Given the description of an element on the screen output the (x, y) to click on. 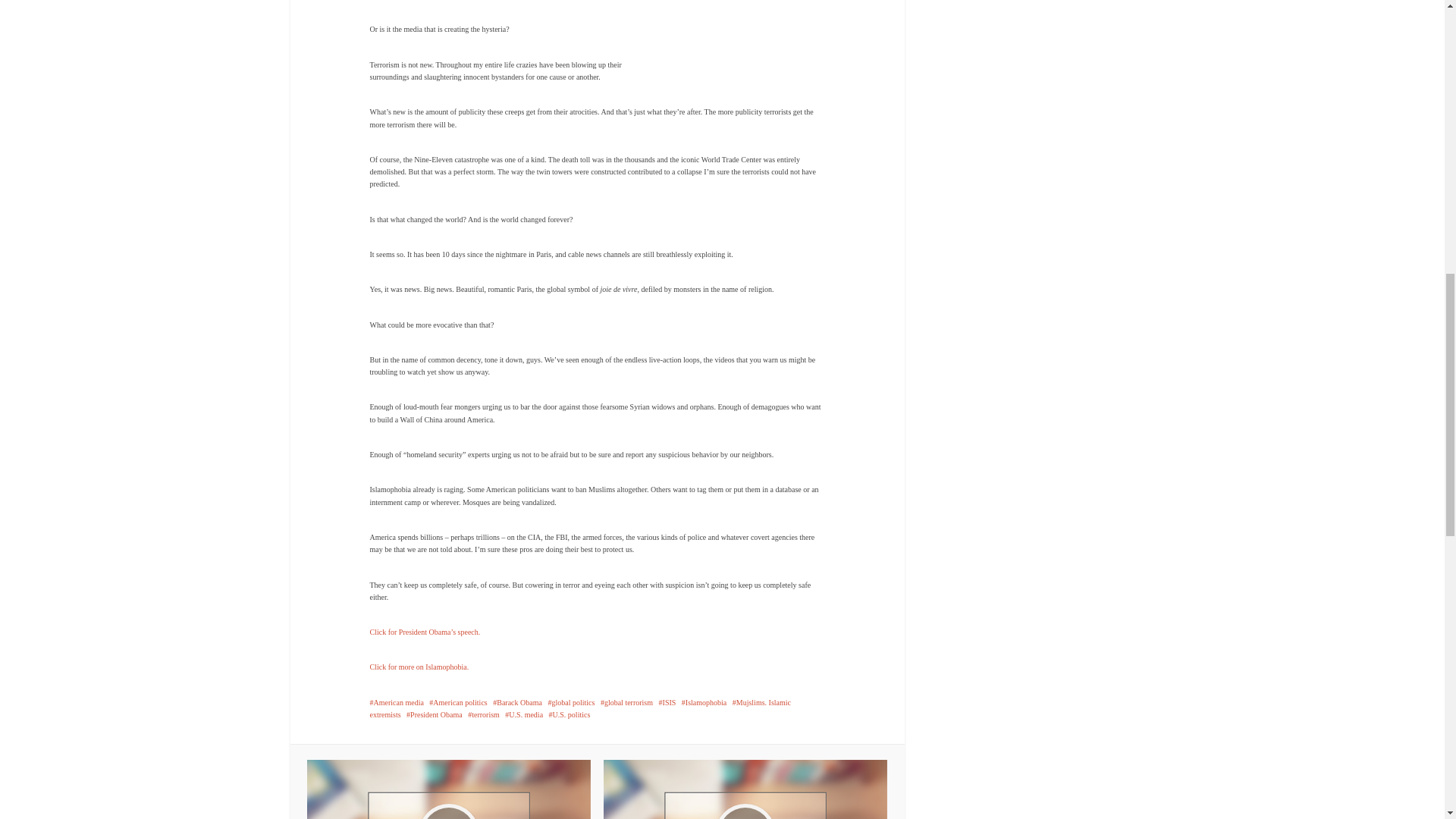
ISIS (668, 702)
Islamophobia (703, 702)
U.S. politics (569, 714)
terrorism (483, 714)
Mujslims. Islamic extremists (580, 708)
U.S. media (524, 714)
When Polls Go Bad (745, 789)
American media (396, 702)
global terrorism (625, 702)
Click for more on Islamophobia. (418, 666)
global politics (570, 702)
Barack Obama (517, 702)
American politics (457, 702)
President Obama (434, 714)
